Given the description of an element on the screen output the (x, y) to click on. 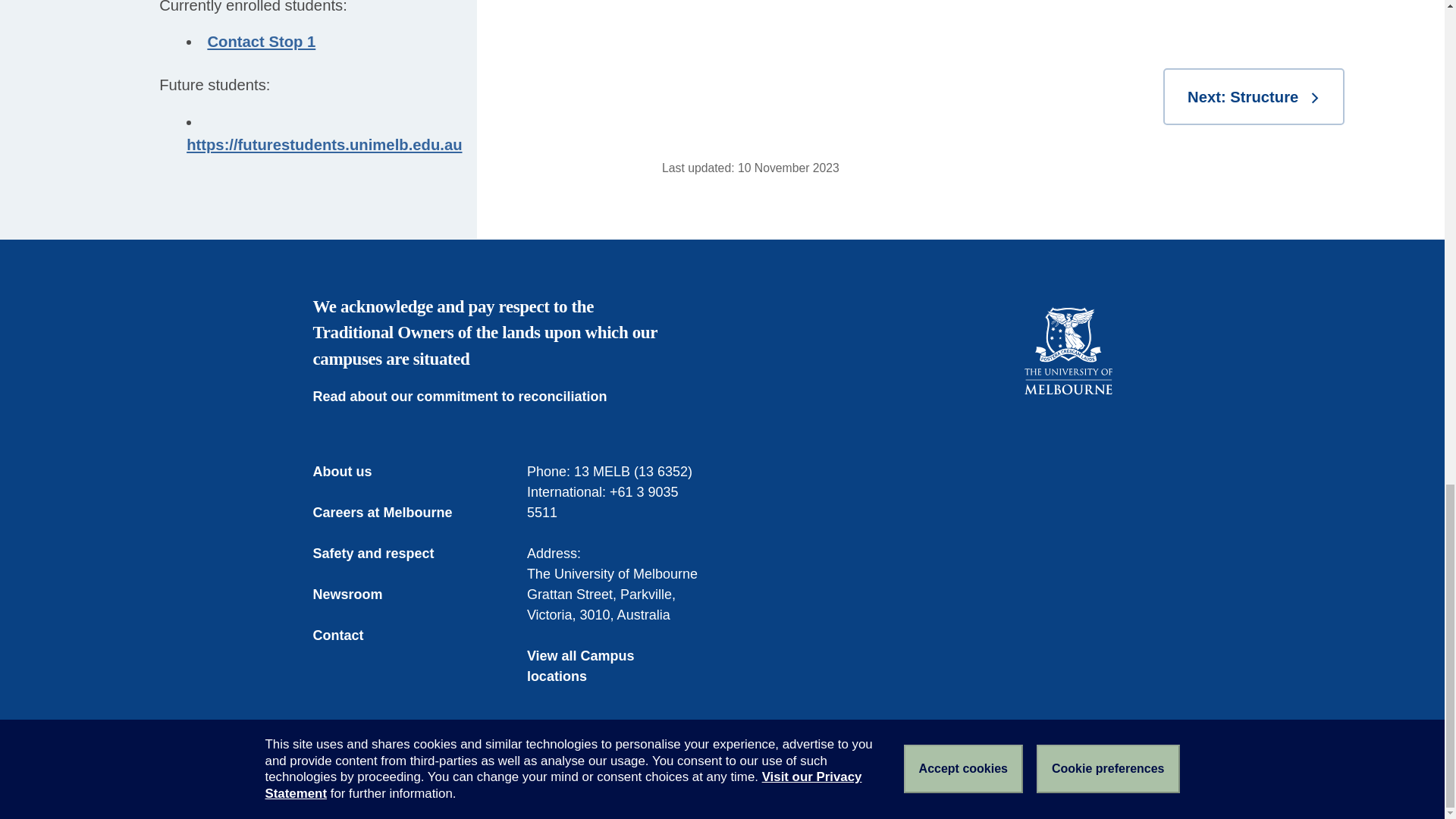
Privacy (604, 780)
About us (353, 471)
Accessibility (532, 780)
Safety and respect (384, 553)
Emergency (345, 780)
View all Campus locations (615, 666)
Contact (349, 635)
Next: Structure (1253, 96)
Read about our commitment to reconciliation (470, 396)
Careers at Melbourne (393, 512)
